Given the description of an element on the screen output the (x, y) to click on. 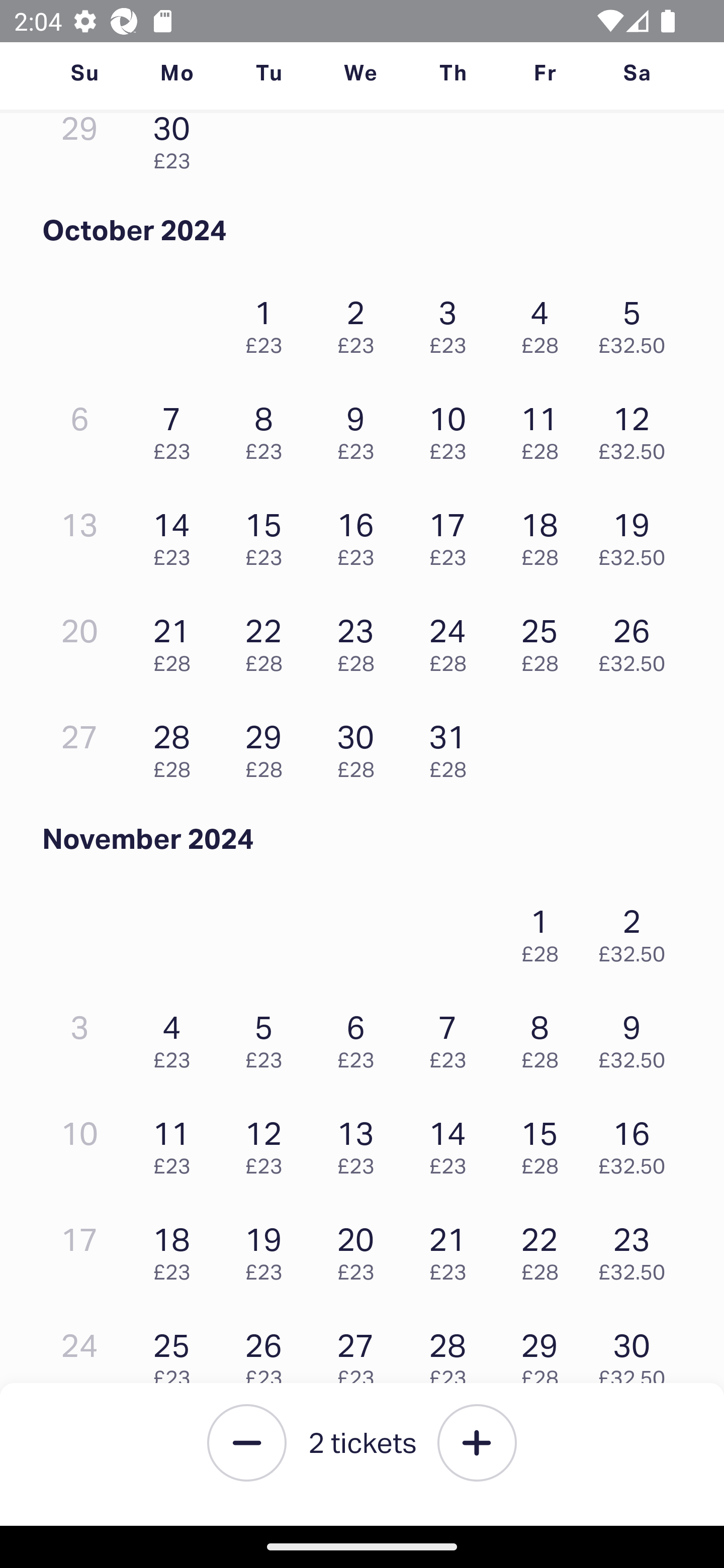
30 £23 (176, 150)
1 £23 (268, 321)
2 £23 (360, 321)
3 £23 (452, 321)
4 £28 (544, 321)
5 £32.50 (636, 321)
7 £23 (176, 428)
8 £23 (268, 428)
9 £23 (360, 428)
10 £23 (452, 428)
11 £28 (544, 428)
12 £32.50 (636, 428)
14 £23 (176, 533)
15 £23 (268, 533)
16 £23 (360, 533)
17 £23 (452, 533)
18 £28 (544, 533)
19 £32.50 (636, 533)
21 £28 (176, 640)
22 £28 (268, 640)
23 £28 (360, 640)
24 £28 (452, 640)
25 £28 (544, 640)
26 £32.50 (636, 640)
28 £28 (176, 746)
29 £28 (268, 746)
30 £28 (360, 746)
31 £28 (452, 746)
1 £28 (544, 930)
2 £32.50 (636, 930)
4 £23 (176, 1036)
5 £23 (268, 1036)
6 £23 (360, 1036)
7 £23 (452, 1036)
8 £28 (544, 1036)
9 £32.50 (636, 1036)
11 £23 (176, 1142)
12 £23 (268, 1142)
13 £23 (360, 1142)
14 £23 (452, 1142)
15 £28 (544, 1142)
16 £32.50 (636, 1142)
18 £23 (176, 1248)
19 £23 (268, 1248)
20 £23 (360, 1248)
21 £23 (452, 1248)
22 £28 (544, 1248)
23 £32.50 (636, 1248)
25 £23 (176, 1355)
26 £23 (268, 1355)
